Given the description of an element on the screen output the (x, y) to click on. 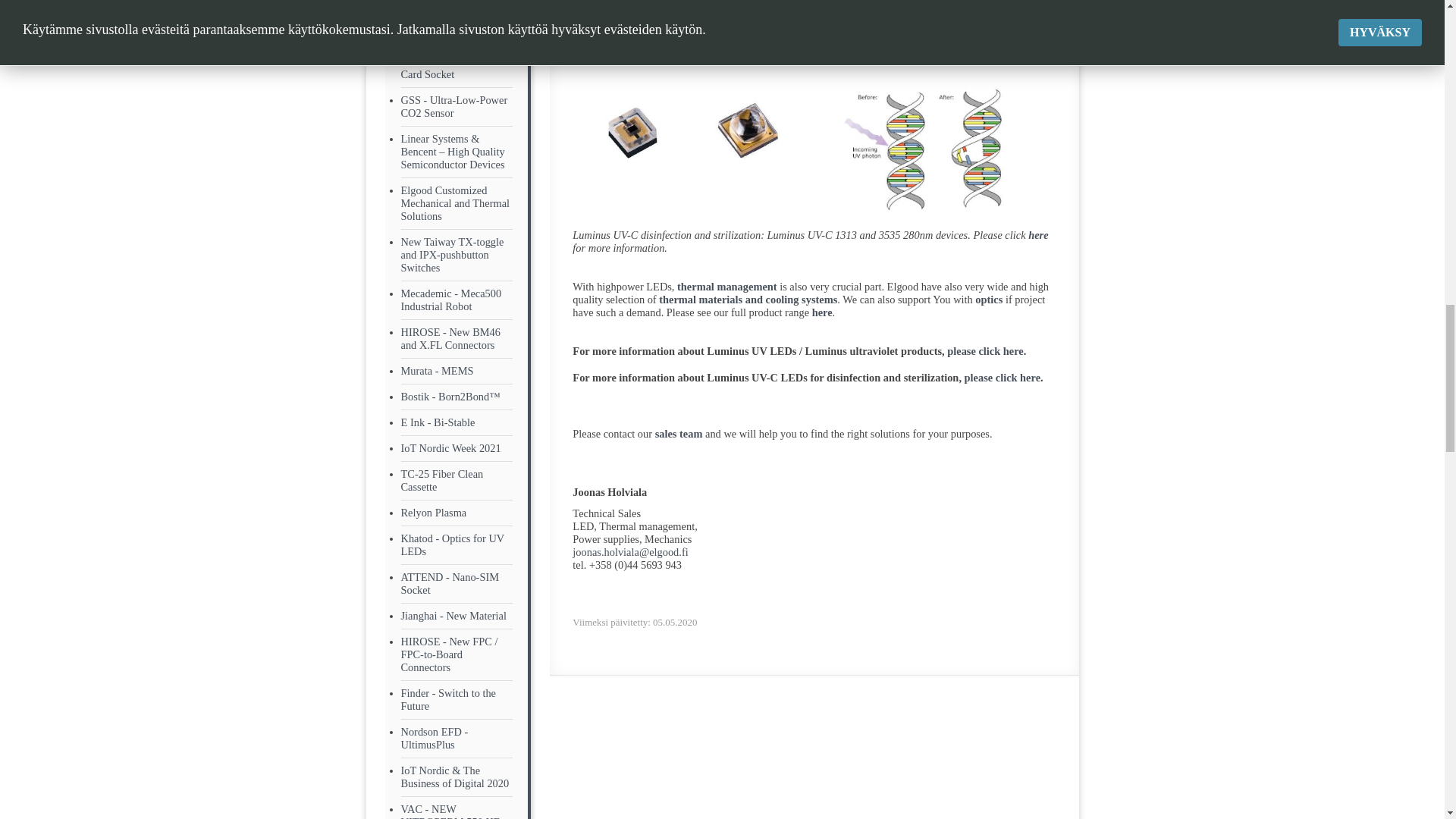
UV-C disinfection and sterilization PDF (1037, 234)
thermal materials and cooling systems (748, 299)
All products (822, 312)
Optics (989, 299)
Thermal management (726, 286)
Sales team (679, 433)
Luminus APN (1002, 377)
